Given the description of an element on the screen output the (x, y) to click on. 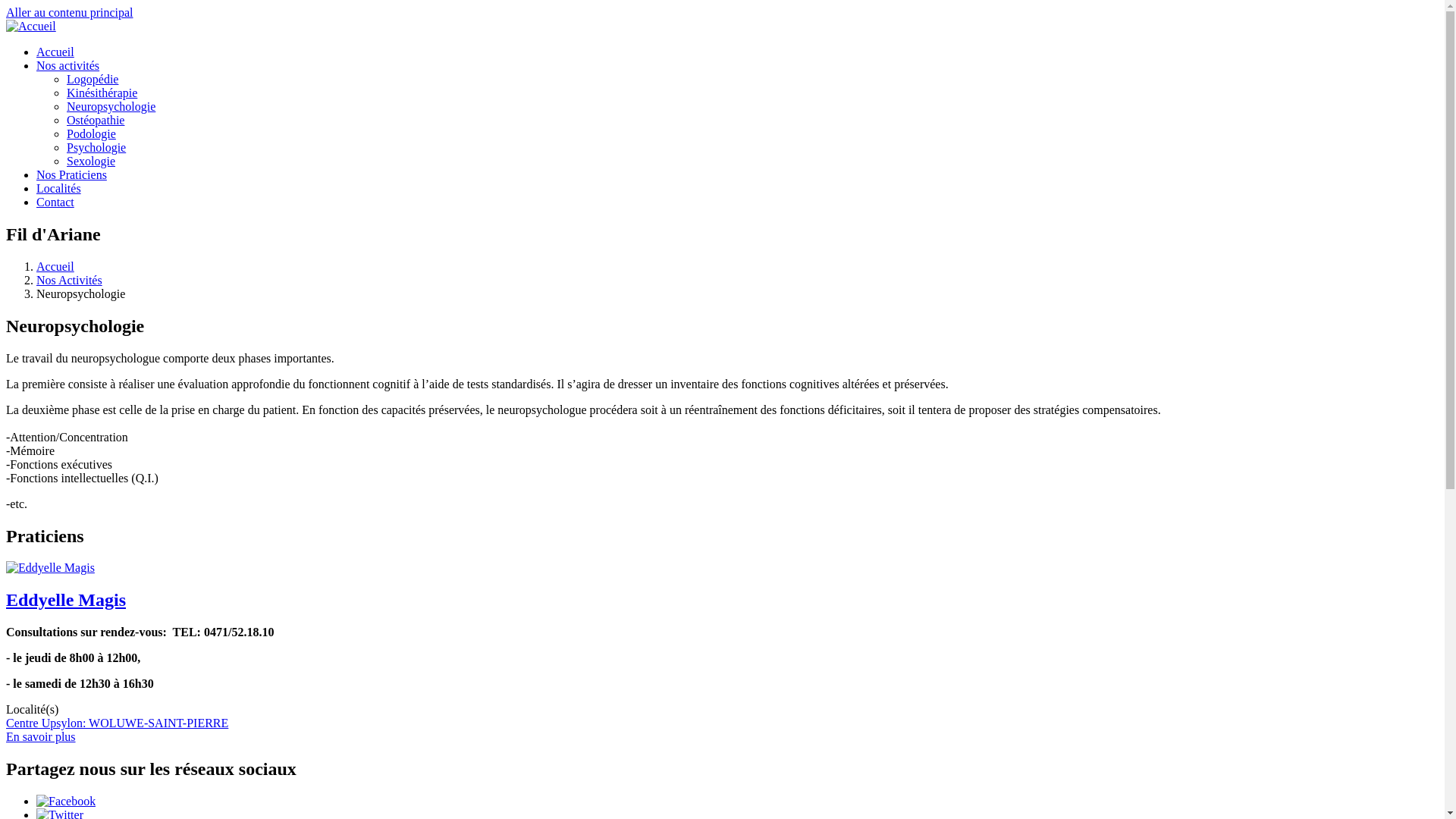
Accueil Element type: text (55, 51)
Contact Element type: text (55, 201)
Eddyelle Magis Element type: hover (50, 567)
Accueil Element type: text (55, 266)
Aller au contenu principal Element type: text (69, 12)
En savoir plus Element type: text (40, 736)
Nos Praticiens Element type: text (71, 174)
Psychologie Element type: text (95, 147)
Sexologie Element type: text (90, 160)
Accueil Element type: hover (31, 25)
Eddyelle Magis Element type: text (65, 599)
Neuropsychologie Element type: text (110, 106)
Podologie Element type: text (91, 133)
Centre Upsylon: WOLUWE-SAINT-PIERRE Element type: text (117, 722)
Facebook Element type: hover (65, 800)
